Given the description of an element on the screen output the (x, y) to click on. 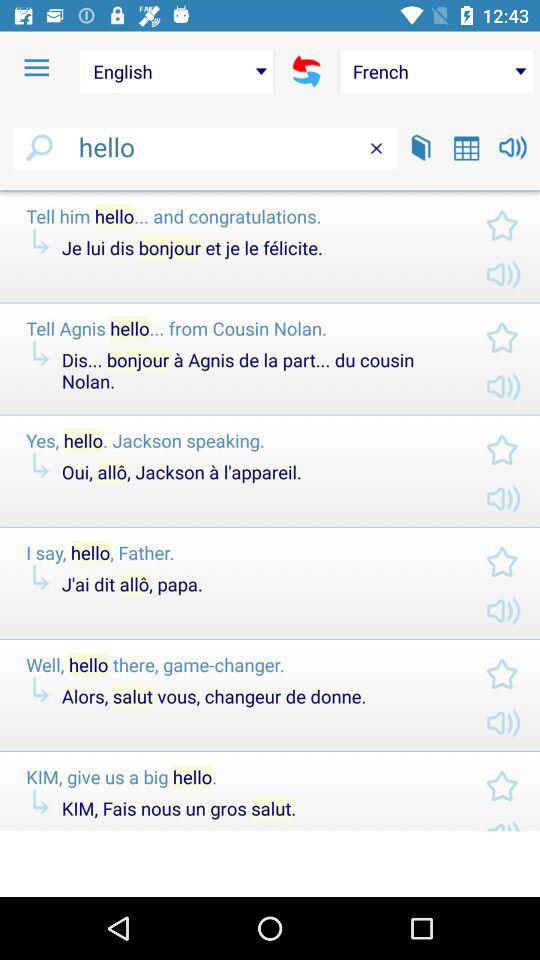
turn off the i say hello (239, 552)
